Given the description of an element on the screen output the (x, y) to click on. 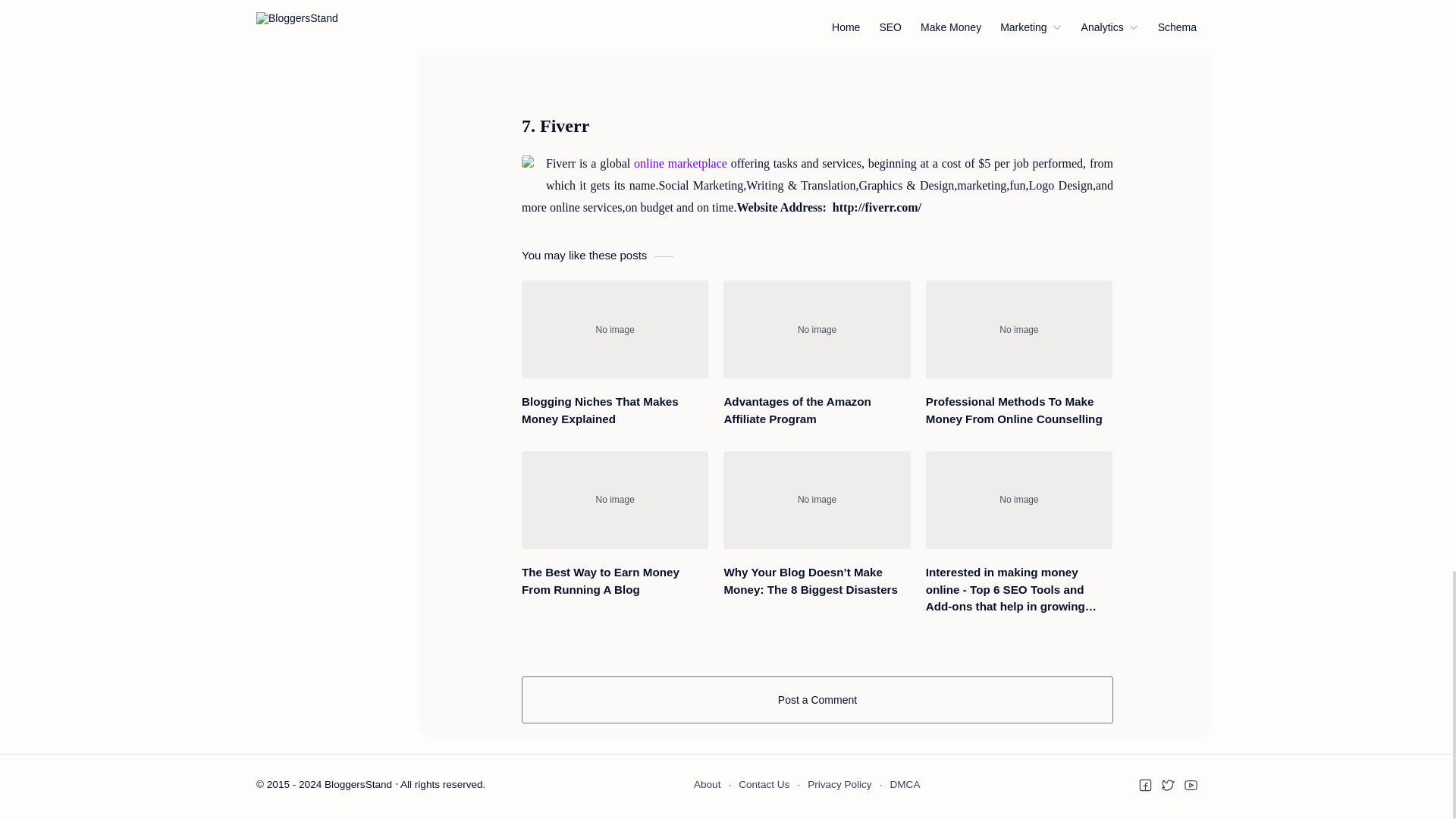
Professional Methods To Make Money From Online Counselling (1019, 329)
Blogging Niches That Makes Money Explained (614, 329)
Advantages of the Amazon Affiliate Program (816, 329)
The Best Way to Earn Money From Running A Blog (614, 499)
